Given the description of an element on the screen output the (x, y) to click on. 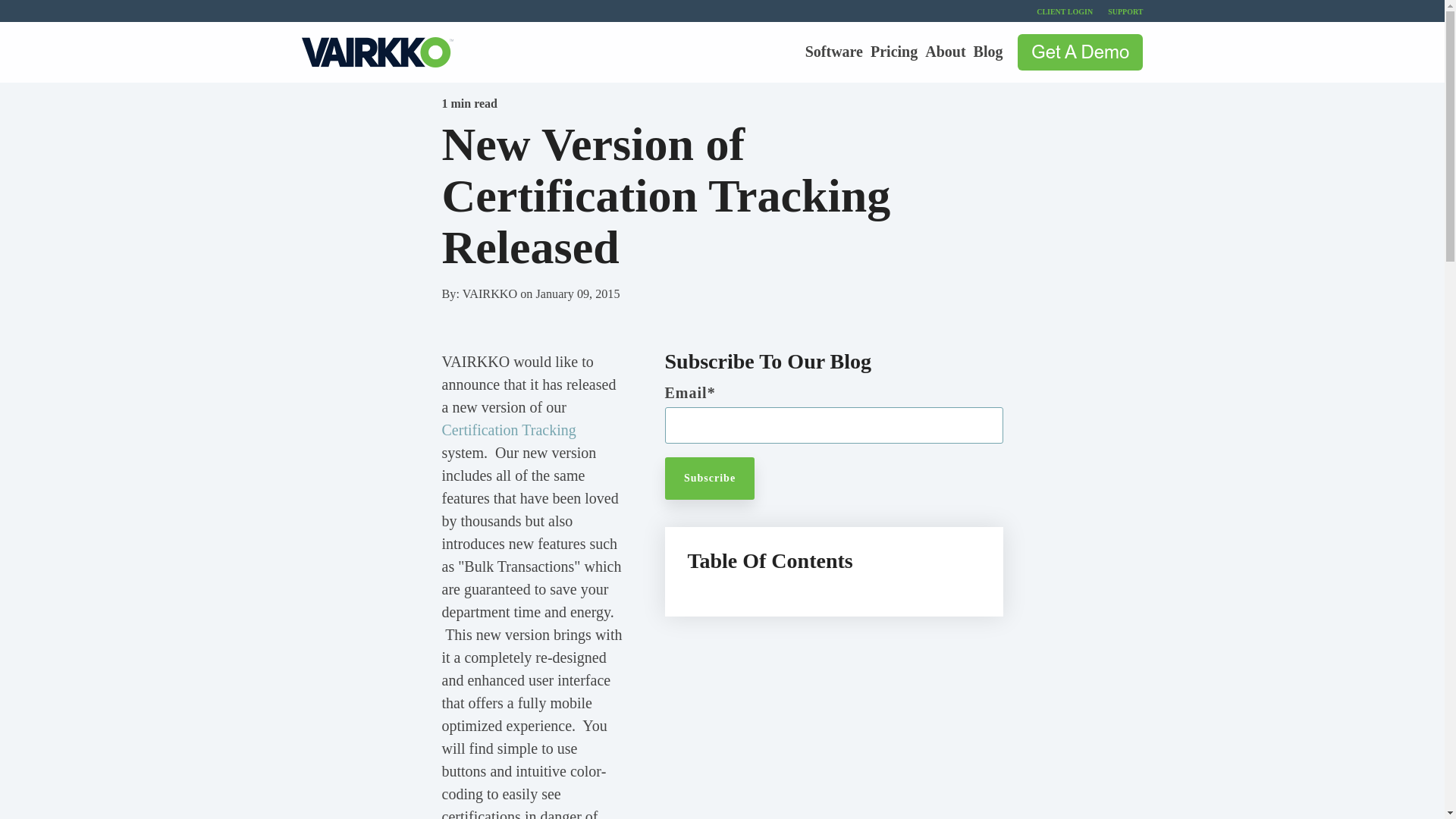
Subscribe (708, 478)
Software (834, 51)
VAIRKKO (492, 294)
Subscribe (708, 478)
Blog (988, 51)
About (945, 51)
SUPPORT (1117, 11)
Pricing (893, 51)
Certification Tracking (508, 429)
CLIENT LOGIN (1057, 11)
